Given the description of an element on the screen output the (x, y) to click on. 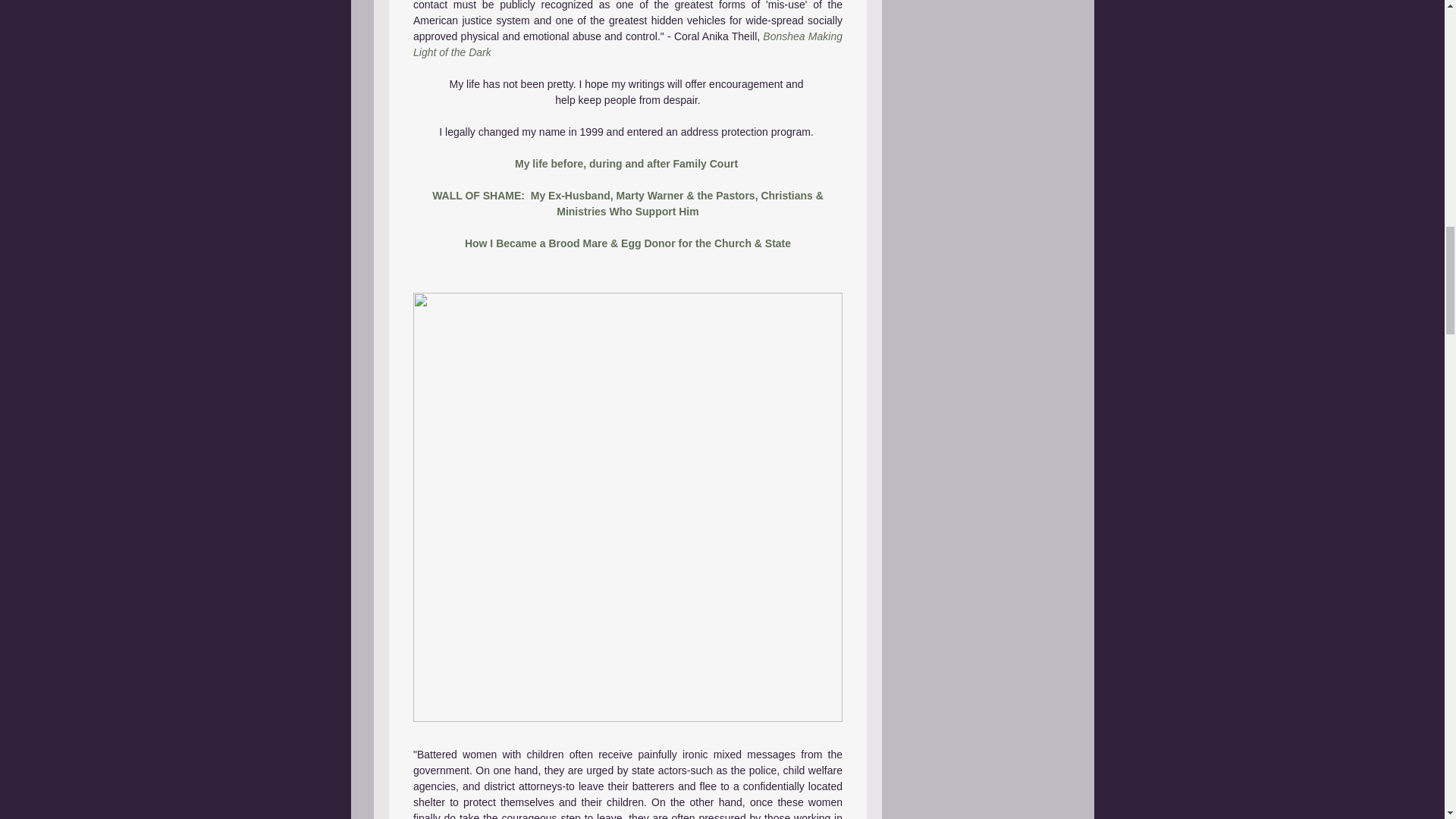
Bonshea Making Light of the Dark (628, 44)
My life before, during and after Family Court  (628, 163)
